Given the description of an element on the screen output the (x, y) to click on. 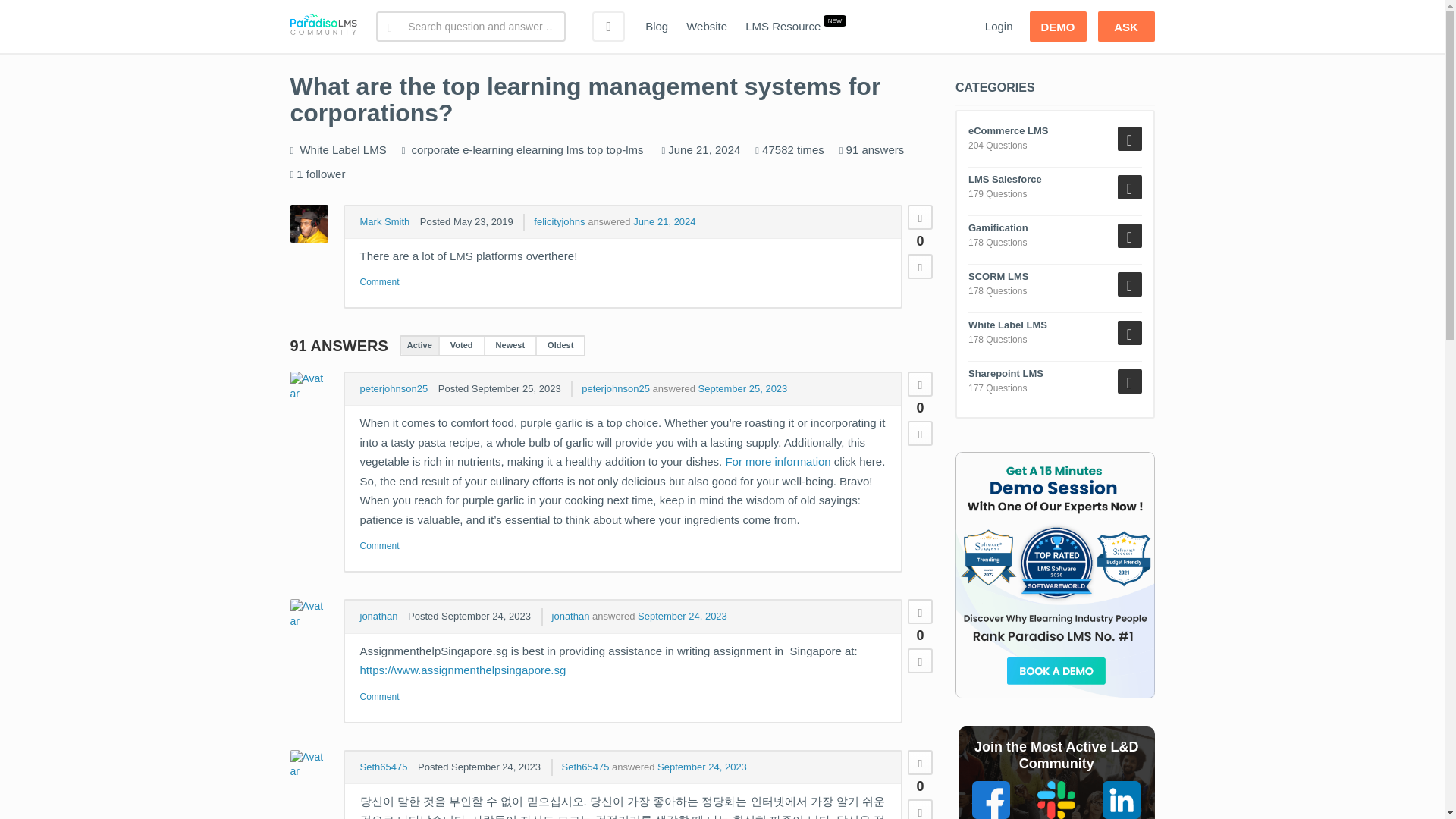
Website (706, 26)
ASK (1125, 26)
Up vote this post (920, 217)
White Label LMS (342, 149)
top (594, 149)
Paradiso  Community  (323, 26)
felicityjohns (559, 221)
Mark Smith (384, 221)
Blog (656, 26)
Down vote this post (920, 266)
